Given the description of an element on the screen output the (x, y) to click on. 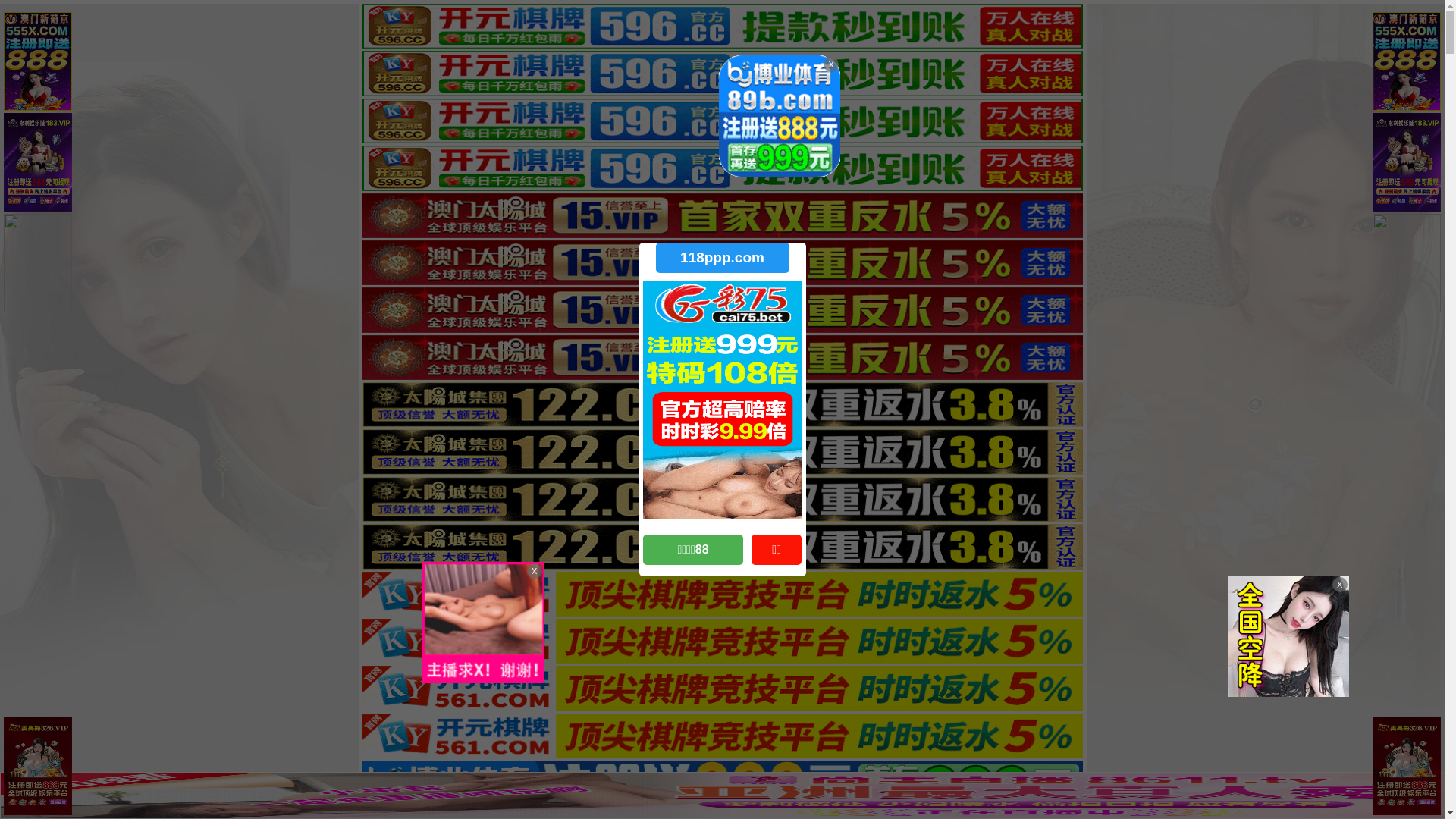
118ppp.com Element type: text (721, 257)
X Element type: text (1430, 789)
